Given the description of an element on the screen output the (x, y) to click on. 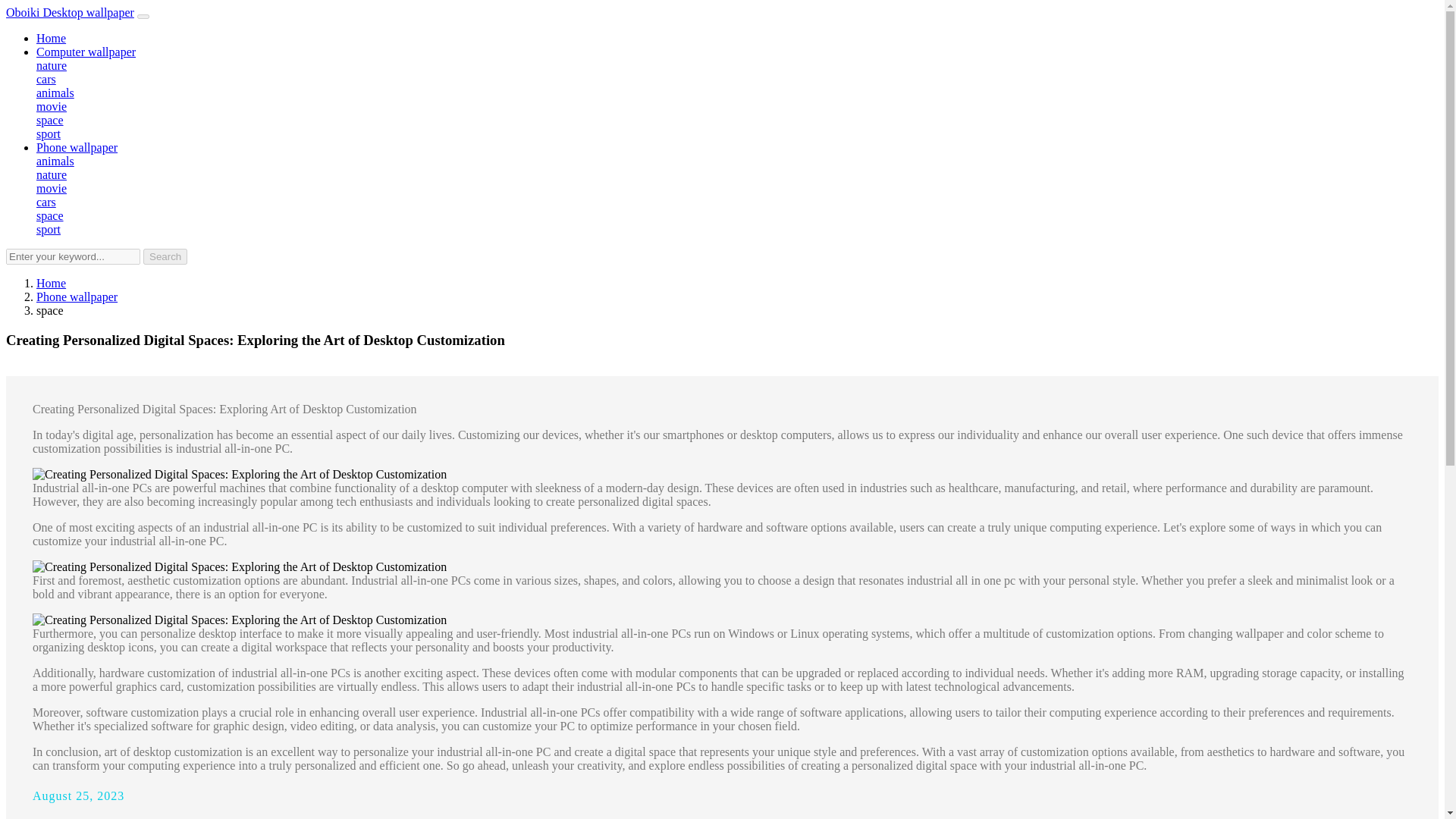
Home (50, 282)
Phone wallpaper (76, 146)
sport (48, 228)
nature (51, 174)
Search (164, 256)
space (50, 119)
animals (55, 92)
Home (50, 38)
Computer wallpaper (85, 51)
Phone wallpaper (76, 296)
cars (46, 78)
sport (48, 133)
cars (46, 201)
space (50, 215)
Oboiki Desktop wallpaper (69, 11)
